Given the description of an element on the screen output the (x, y) to click on. 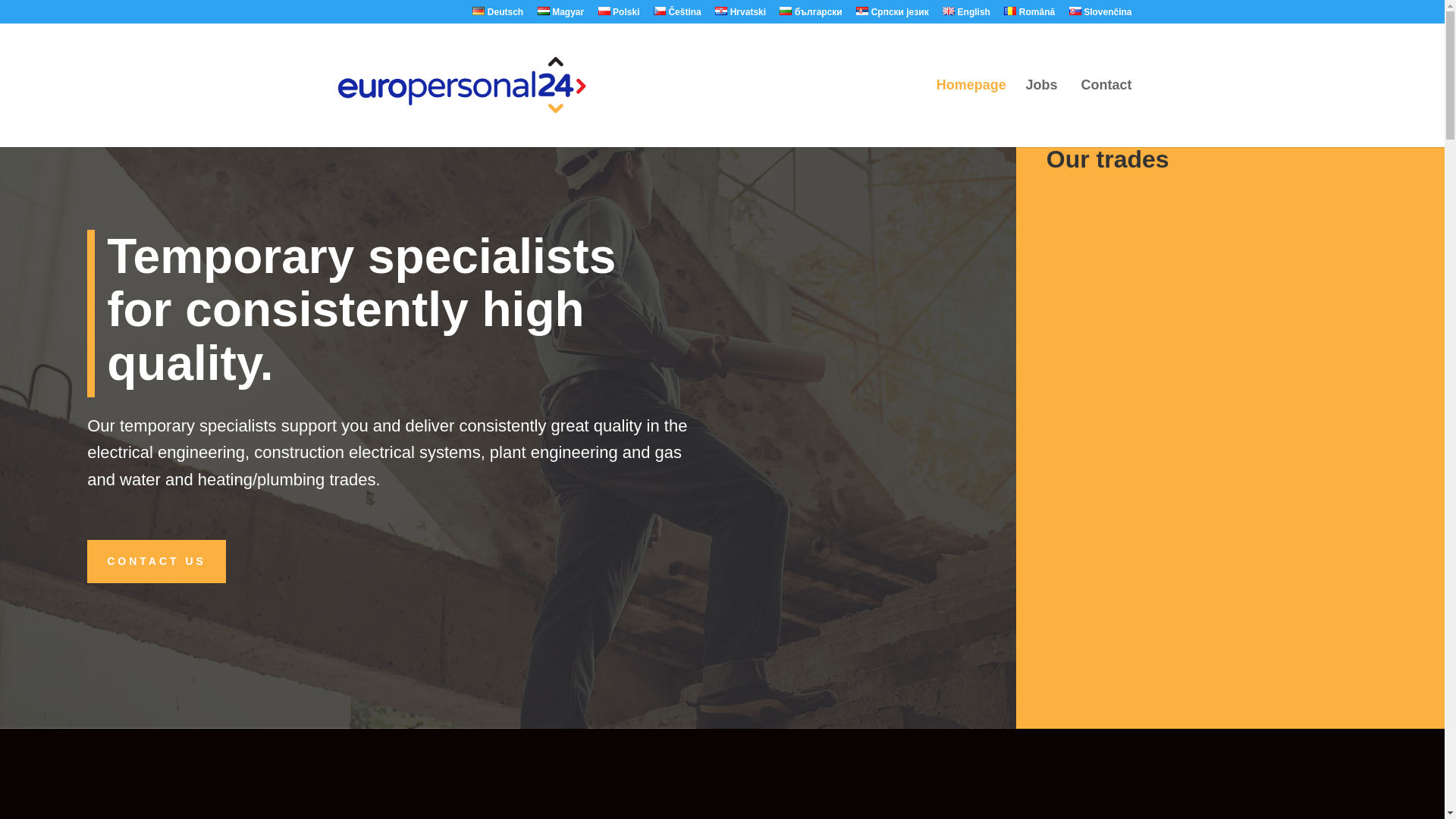
Hrvatski (739, 14)
Magyar (561, 14)
Deutsch (496, 14)
Homepage (971, 113)
Polski (619, 14)
CONTACT US (156, 560)
English (966, 14)
